Given the description of an element on the screen output the (x, y) to click on. 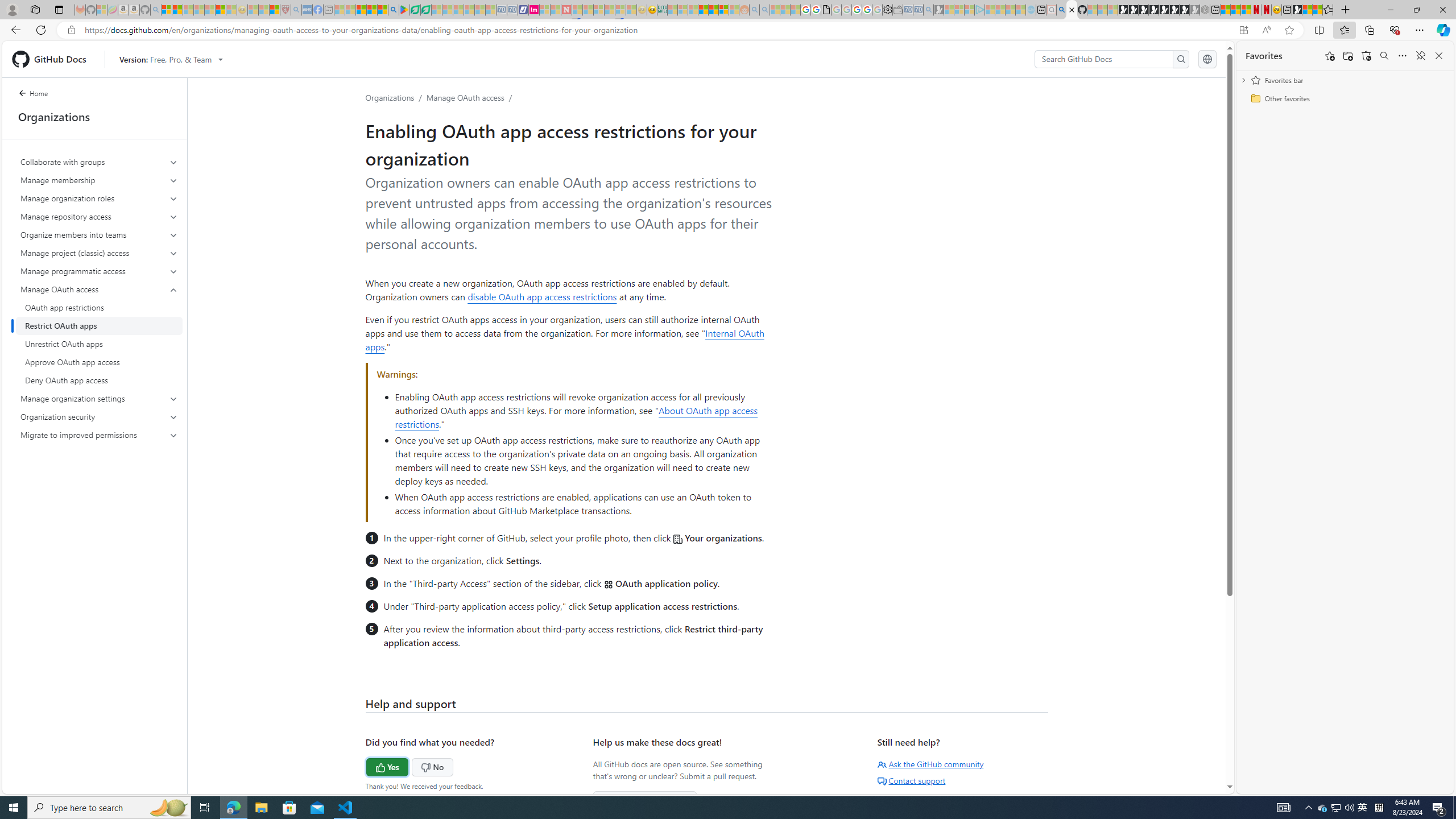
Select language: current language is English (1207, 58)
Minimize (1390, 9)
Restrict OAuth apps (99, 325)
Microsoft Word - consumer-privacy address update 2.2021 (426, 9)
Organization security (99, 416)
Add this page to favorites (Ctrl+D) (1289, 29)
Approve OAuth app access (99, 361)
Manage membership (99, 180)
Ask the GitHub community (930, 763)
